Given the description of an element on the screen output the (x, y) to click on. 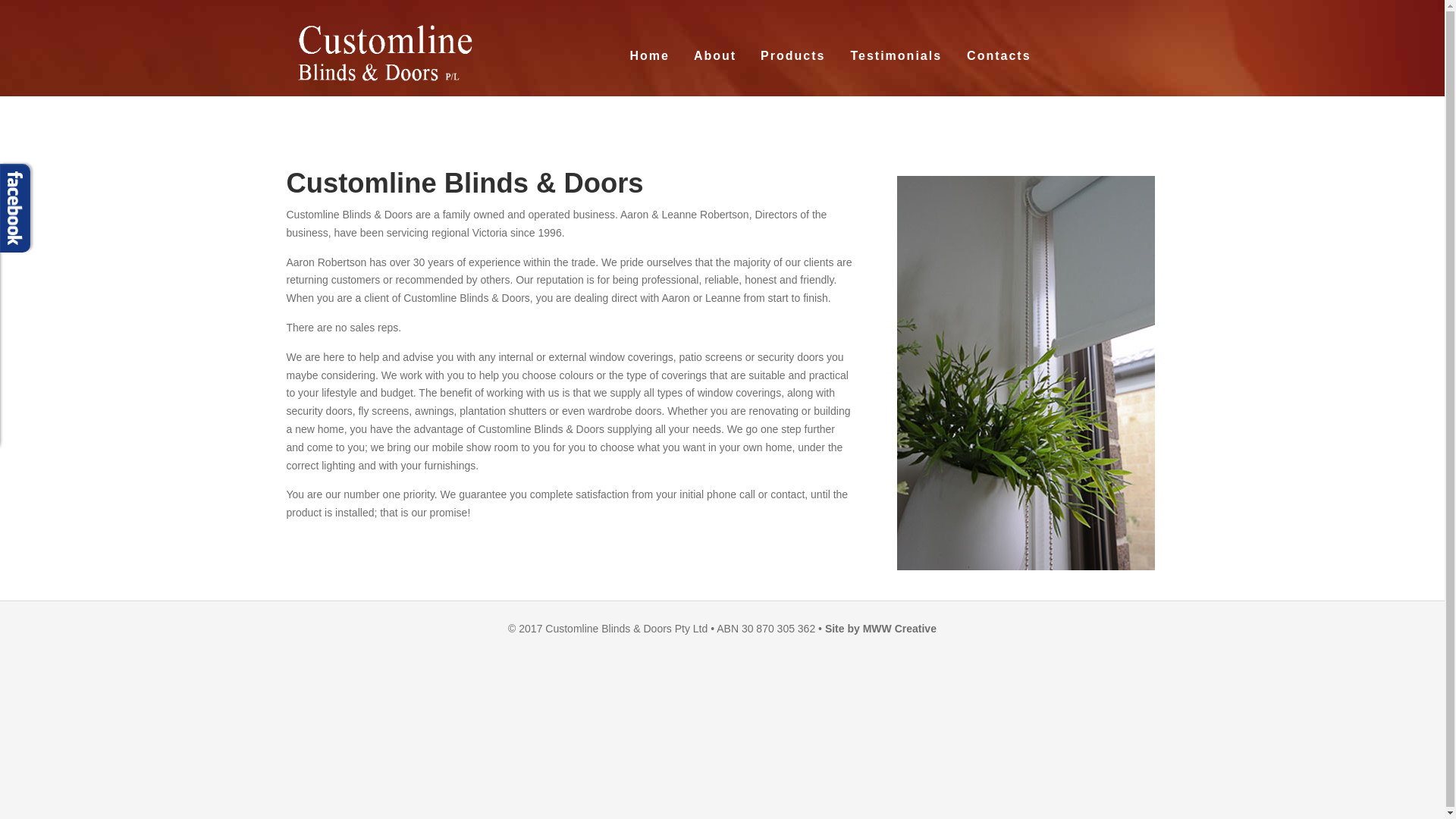
About Element type: text (714, 55)
Home Element type: text (648, 55)
Products Element type: text (792, 55)
Site by MWW Creative Element type: text (880, 628)
Testimonials Element type: text (895, 55)
Contacts Element type: text (998, 55)
